Given the description of an element on the screen output the (x, y) to click on. 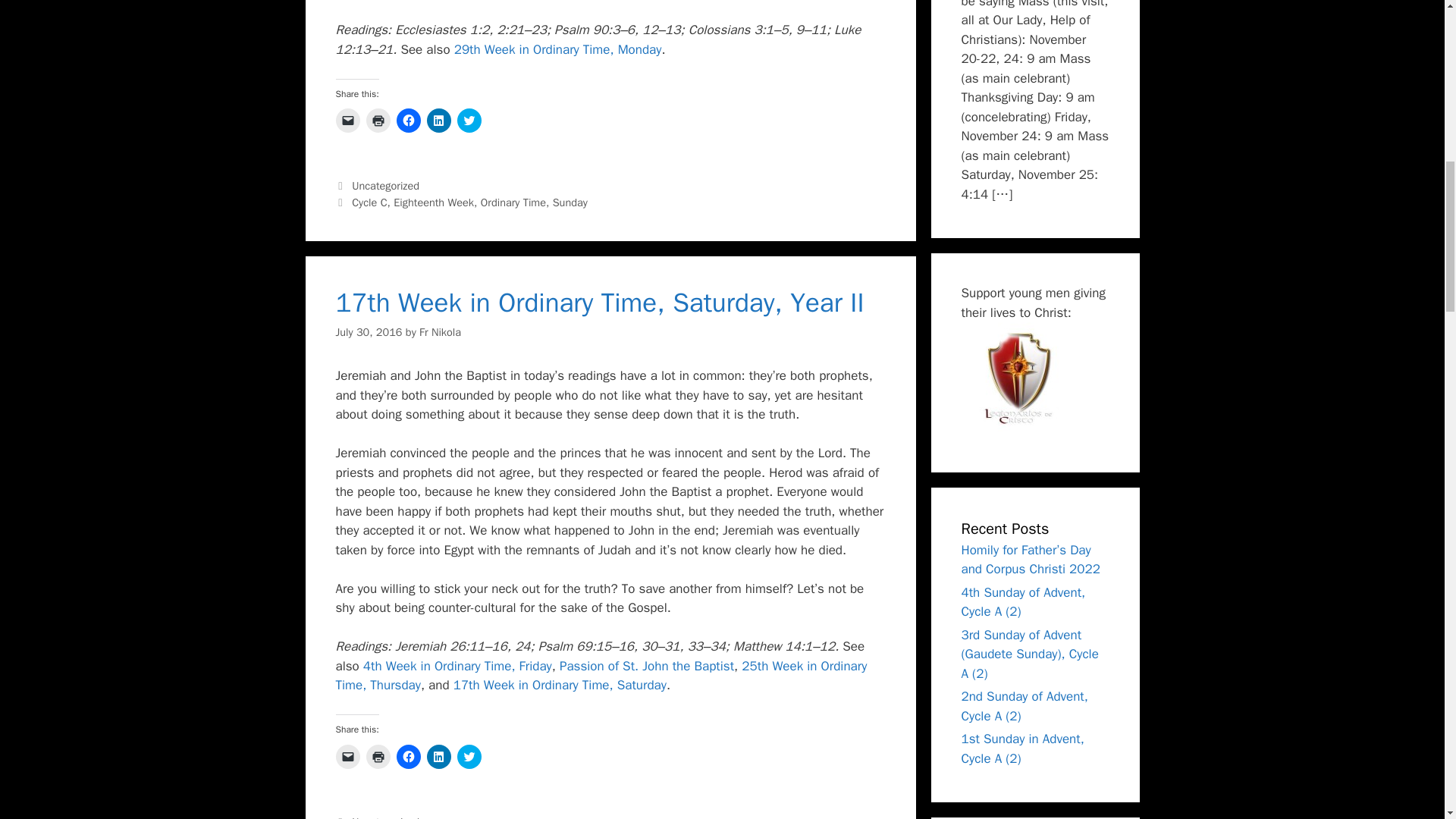
Uncategorized (385, 185)
Click to share on Facebook (408, 120)
Click to print (377, 120)
17th Week in Ordinary Time, Saturday, Year II (598, 302)
Ordinary Time (513, 202)
Eighteenth Week (433, 202)
Click to email a link to a friend (346, 120)
Click to share on Facebook (408, 756)
Cycle C (369, 202)
Click to share on LinkedIn (437, 756)
Click to email a link to a friend (346, 756)
17th Week in Ordinary Time, Saturday (559, 684)
Click to share on Twitter (468, 120)
Click to print (377, 756)
View all posts by Fr Nikola (440, 332)
